Given the description of an element on the screen output the (x, y) to click on. 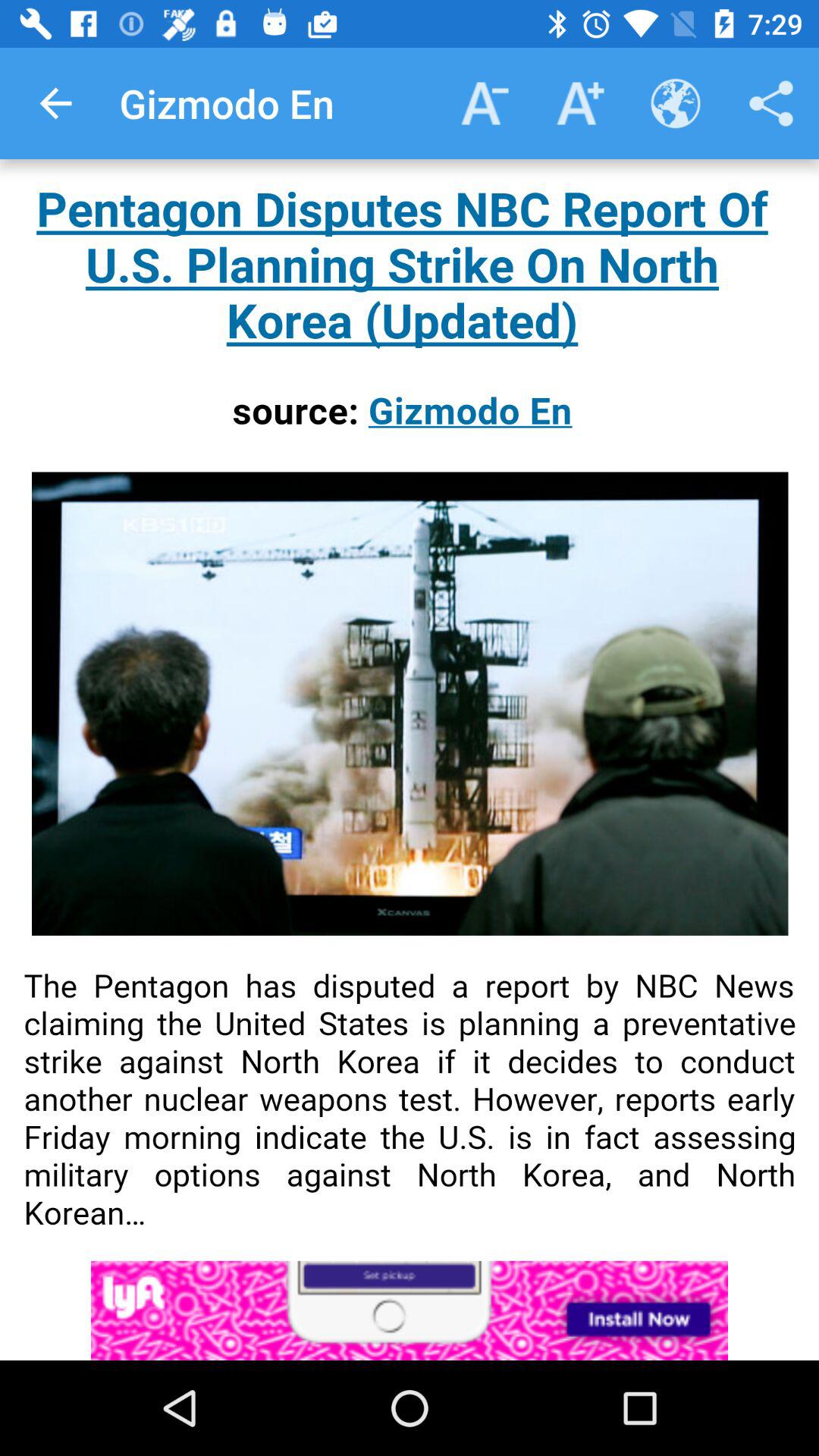
install the app (409, 1310)
